Given the description of an element on the screen output the (x, y) to click on. 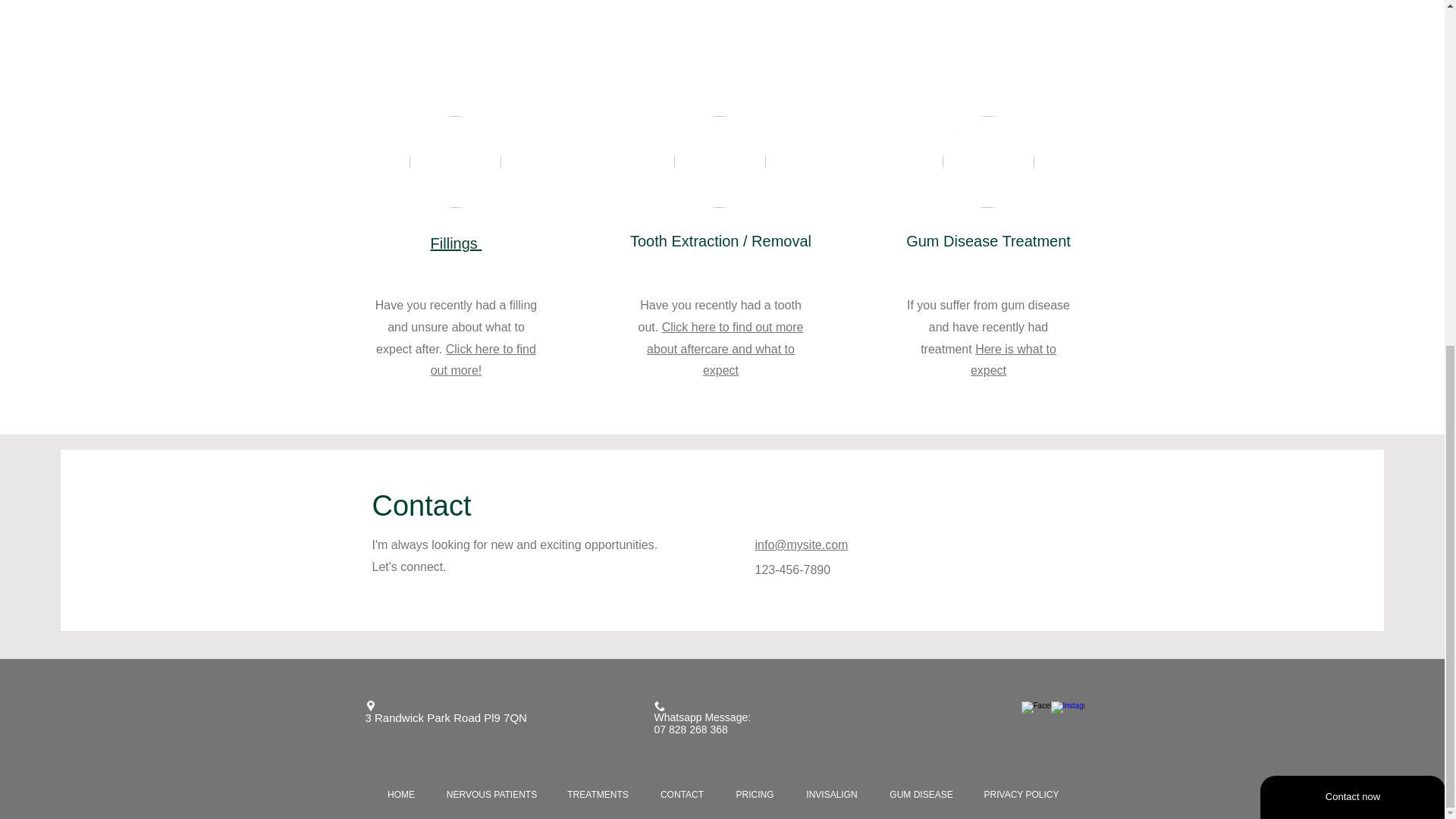
INVISALIGN (832, 794)
Here is what to expect (1014, 360)
TREATMENTS (598, 794)
NERVOUS PATIENTS (491, 794)
Click here to find out more! (482, 360)
Fillings  (455, 243)
PRICING (755, 794)
GUM DISEASE (920, 794)
CONTACT (682, 794)
